Given the description of an element on the screen output the (x, y) to click on. 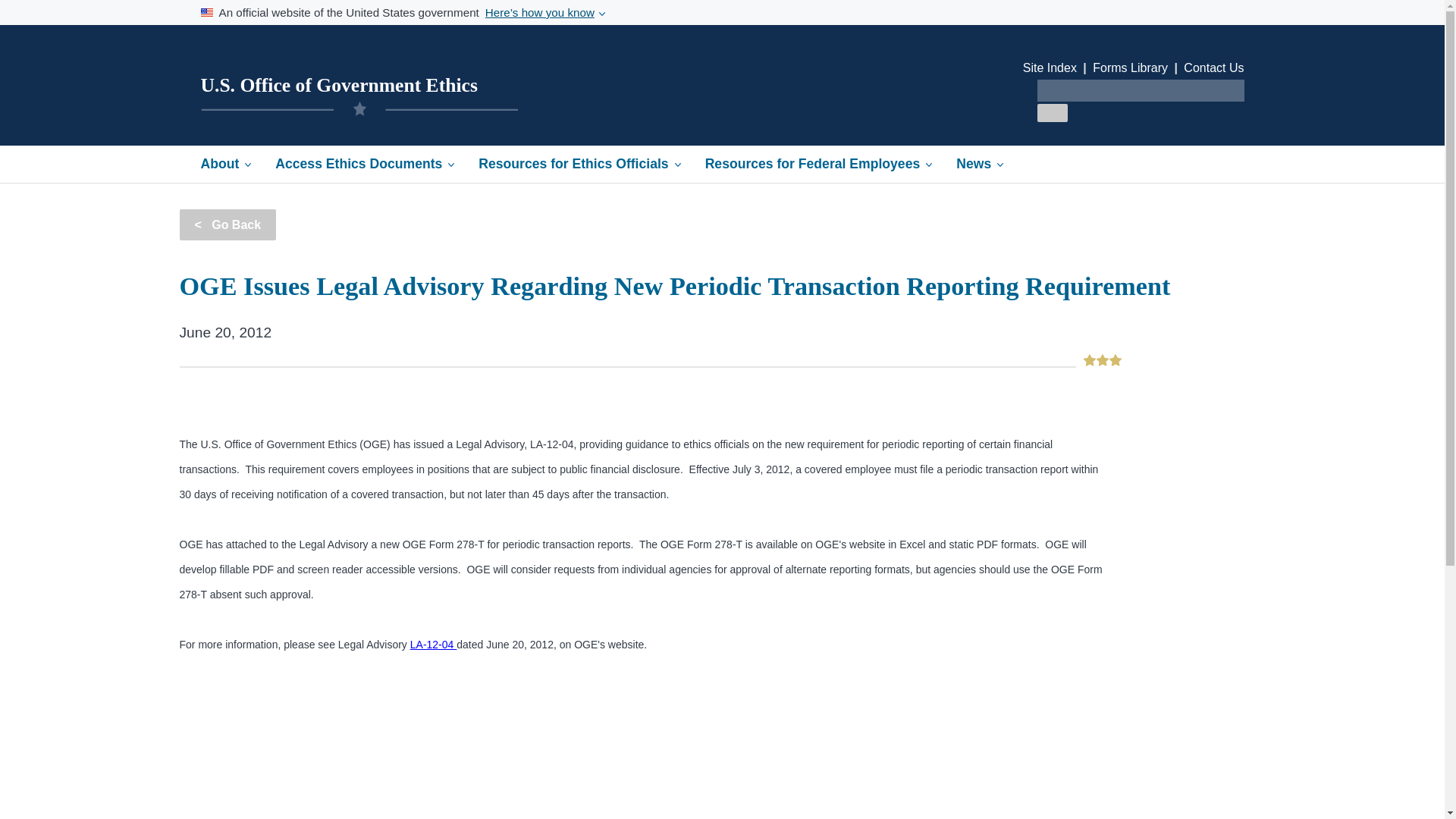
News (978, 163)
About (225, 163)
Access Ethics Documents (364, 163)
Forms Library (1130, 67)
Home (338, 85)
Resources for Ethics Officials (579, 163)
Site Index (1050, 67)
U.S. Office of Government Ethics (338, 85)
Contact Us (1213, 67)
LA-12-04  (433, 644)
Back button (227, 224)
Resources for Federal Employees (818, 163)
